Given the description of an element on the screen output the (x, y) to click on. 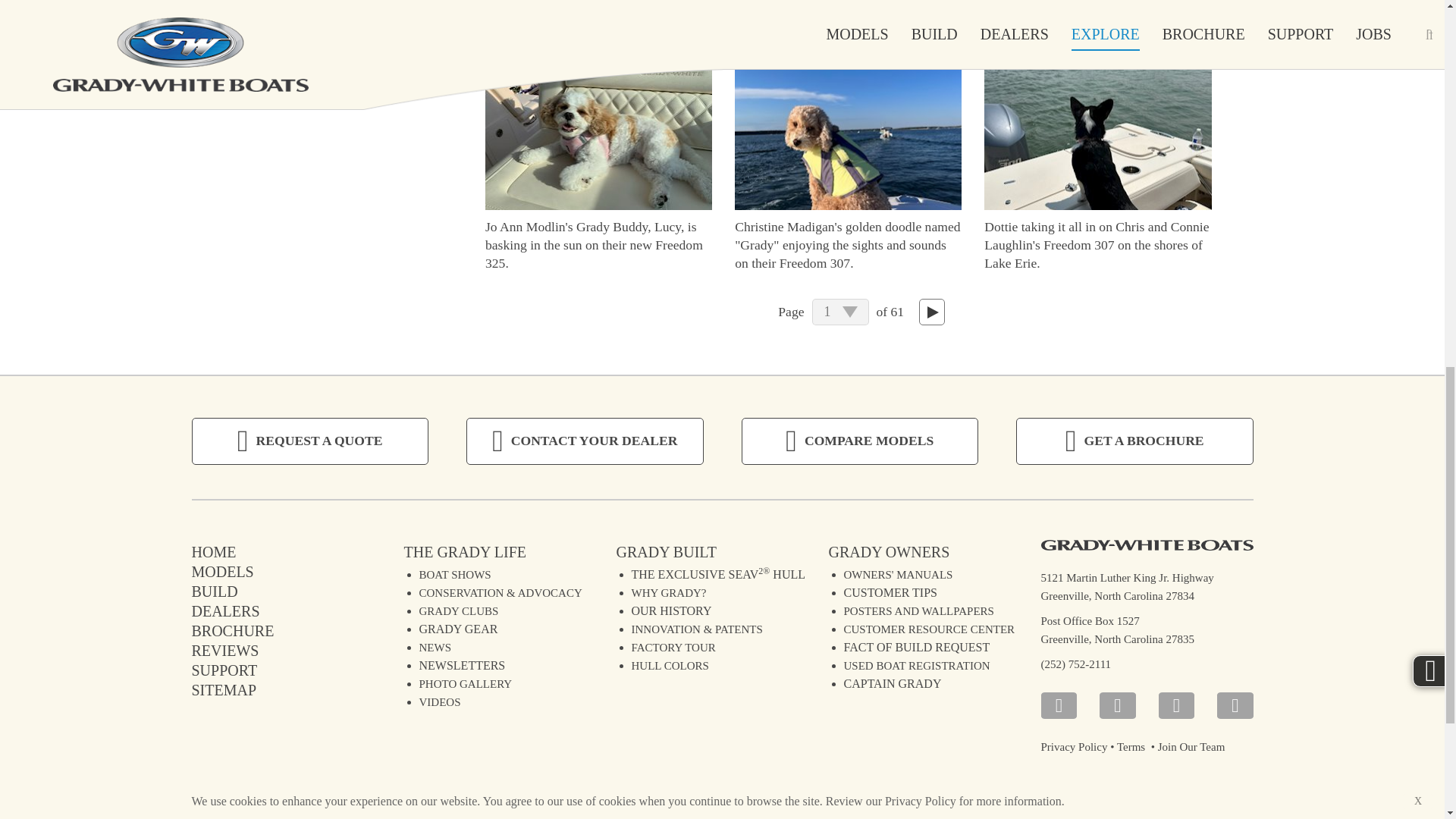
Customer Reviews (224, 649)
Grady Clubs (458, 611)
Boat Shows (454, 574)
Sitemap (223, 688)
Build (213, 590)
Newsletters (462, 664)
GradyWhite.com (212, 550)
Photo Gallery (465, 684)
Brochure (231, 629)
SUPPORT (223, 669)
Dealers (224, 610)
News (435, 647)
Models (221, 570)
